Given the description of an element on the screen output the (x, y) to click on. 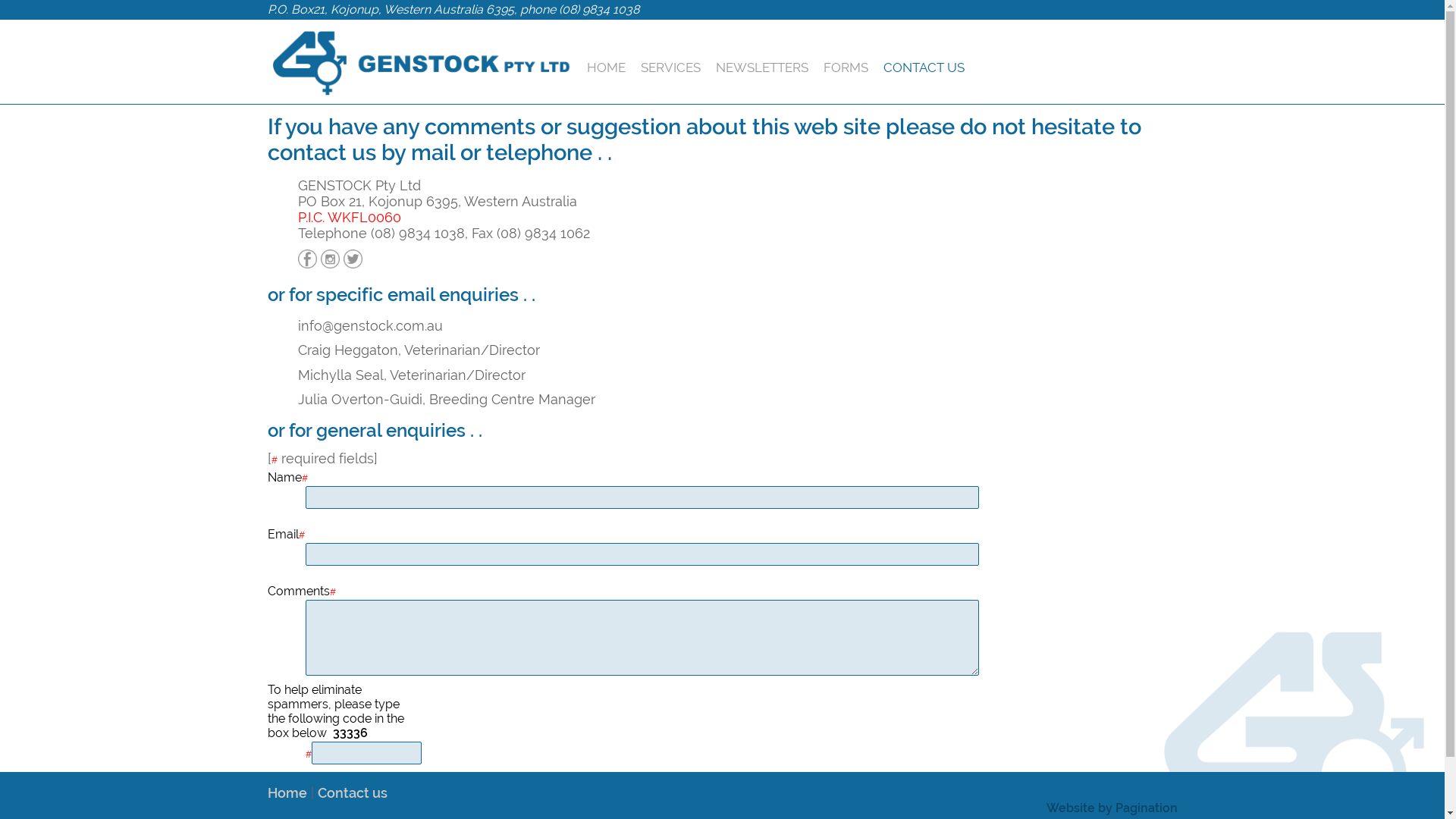
Home Element type: text (286, 792)
 Submit feedback  Element type: text (330, 786)
Contact us Element type: text (351, 792)
FACEBOOK genstockkojonup Element type: hover (306, 258)
Website by Pagination Element type: text (1111, 807)
INSTAGRAM sheepvet_genstock Element type: hover (329, 258)
TWITTER MicGenstock Element type: hover (351, 258)
